Given the description of an element on the screen output the (x, y) to click on. 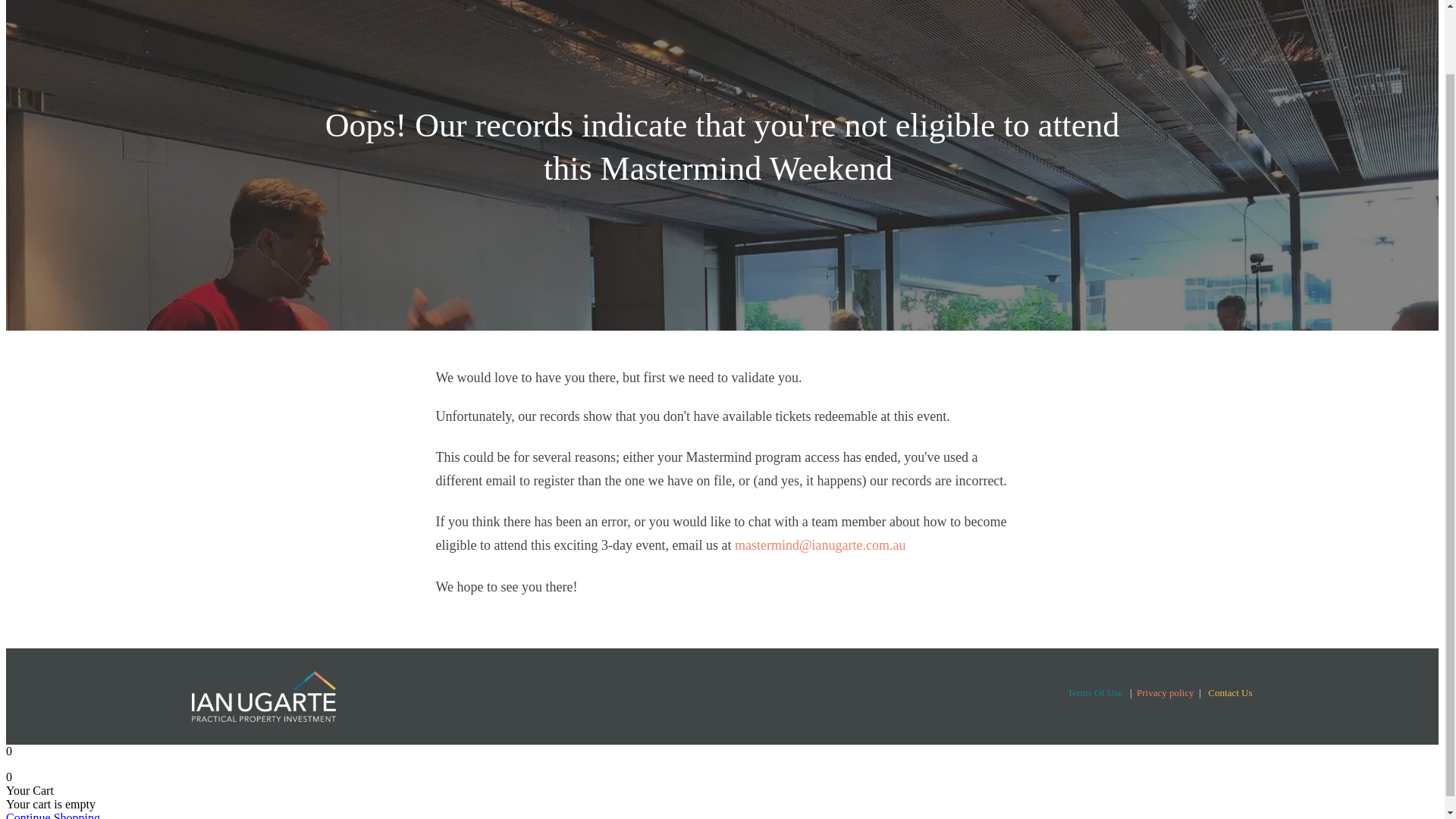
Privacy policy (1165, 692)
Terms Of Use (1094, 692)
IU - Primary Logo - Horizontal (262, 696)
Contact Us (1230, 692)
